Given the description of an element on the screen output the (x, y) to click on. 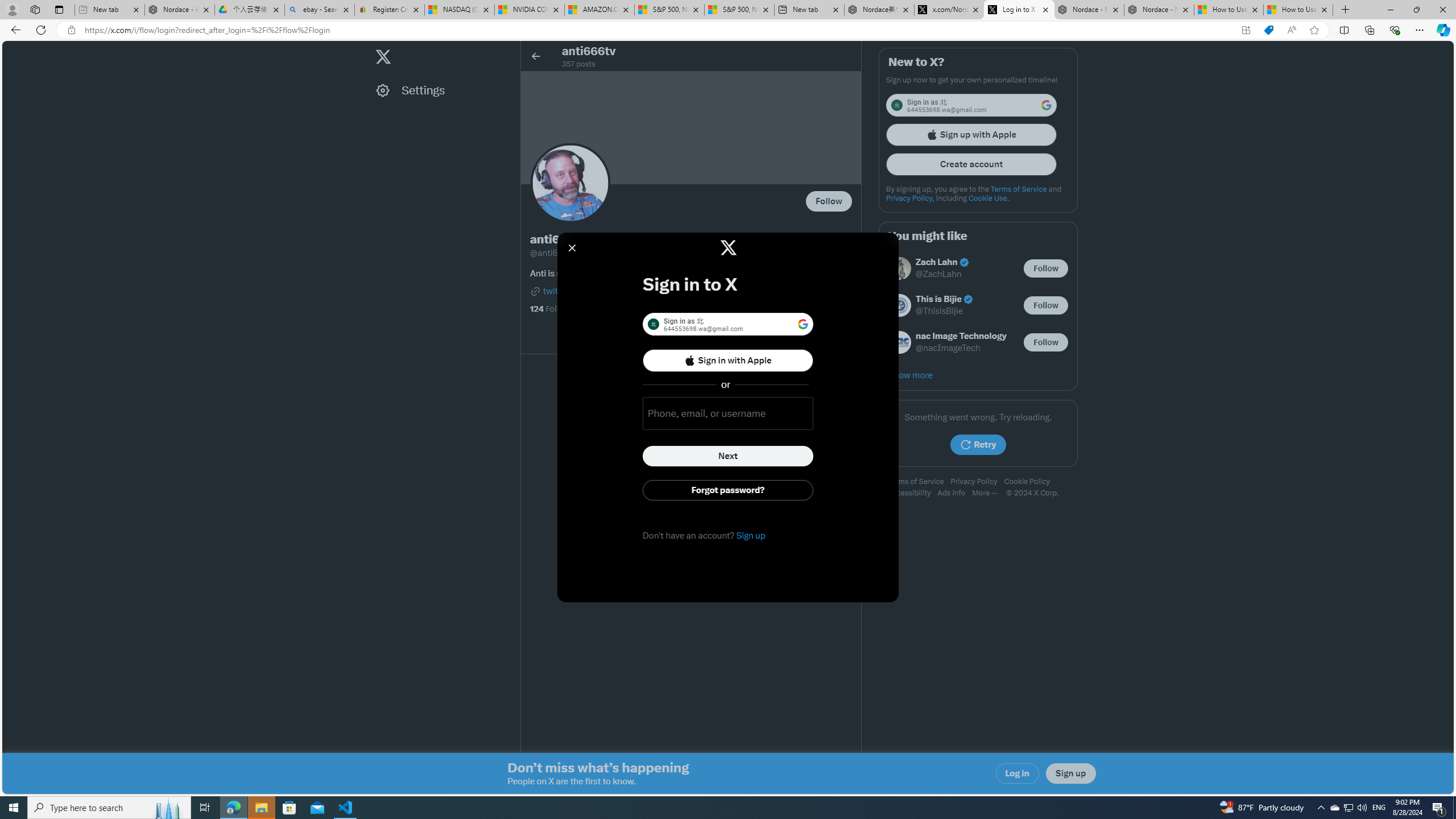
Split screen (1344, 29)
Add this page to favorites (Ctrl+D) (1314, 29)
Refresh (40, 29)
Browser essentials (1394, 29)
Workspaces (34, 9)
Personal Profile (12, 9)
Register: Create a personal eBay account (389, 9)
View site information (70, 29)
Shopping in Microsoft Edge (1268, 29)
Log in to X / X (1018, 9)
How to Use a Monitor With Your Closed Laptop (1297, 9)
